Given the description of an element on the screen output the (x, y) to click on. 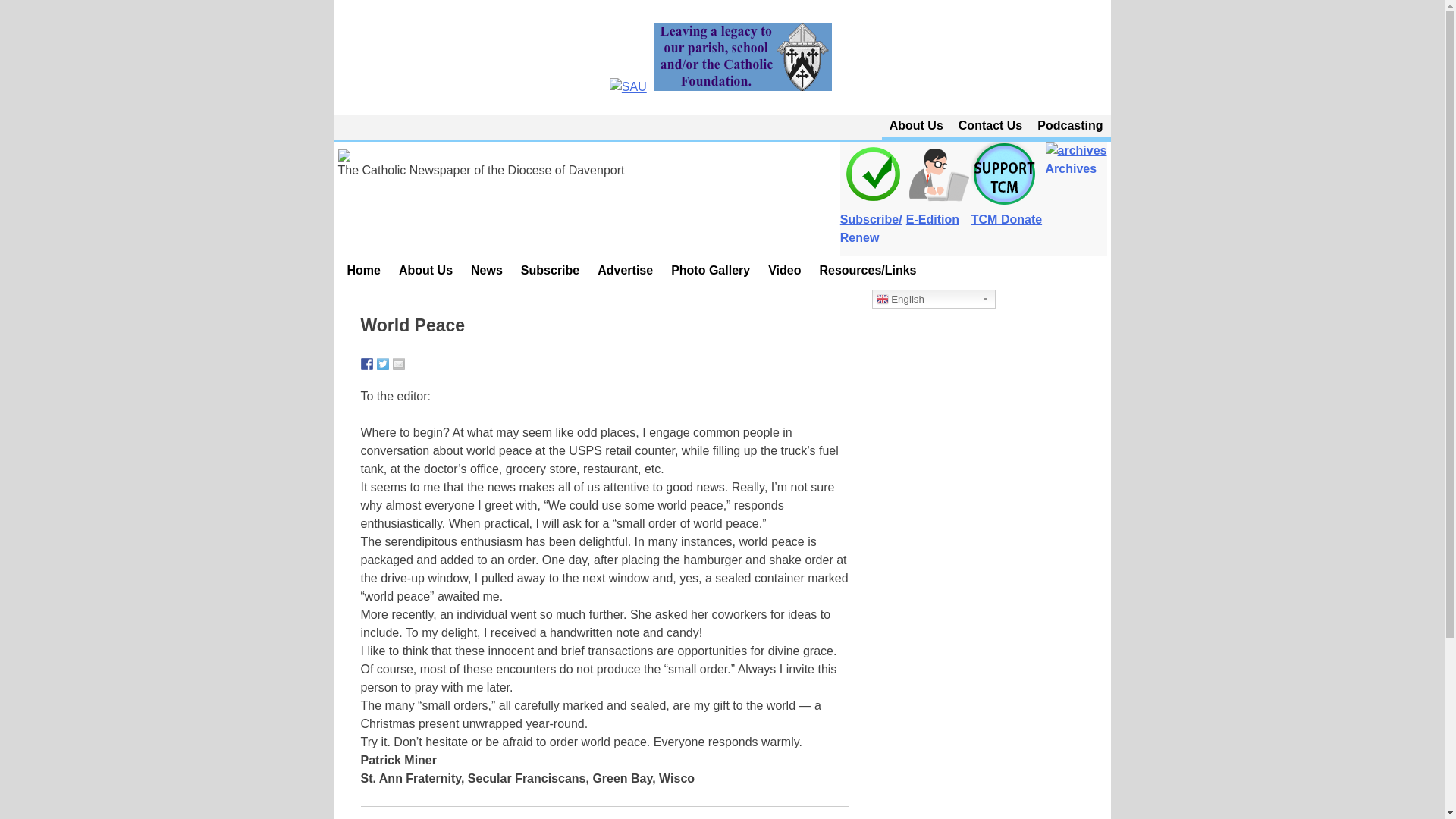
Share by email (398, 363)
About Us (916, 125)
TCM Donate (1006, 210)
Archives (1075, 159)
Share on Facebook (366, 363)
Contact Us (989, 125)
Home (363, 270)
News (487, 270)
Podcasting (1069, 125)
Advertise (625, 270)
Share on Twitter (381, 363)
Subscribe (549, 270)
E-Edition (938, 210)
About Us (425, 270)
